Given the description of an element on the screen output the (x, y) to click on. 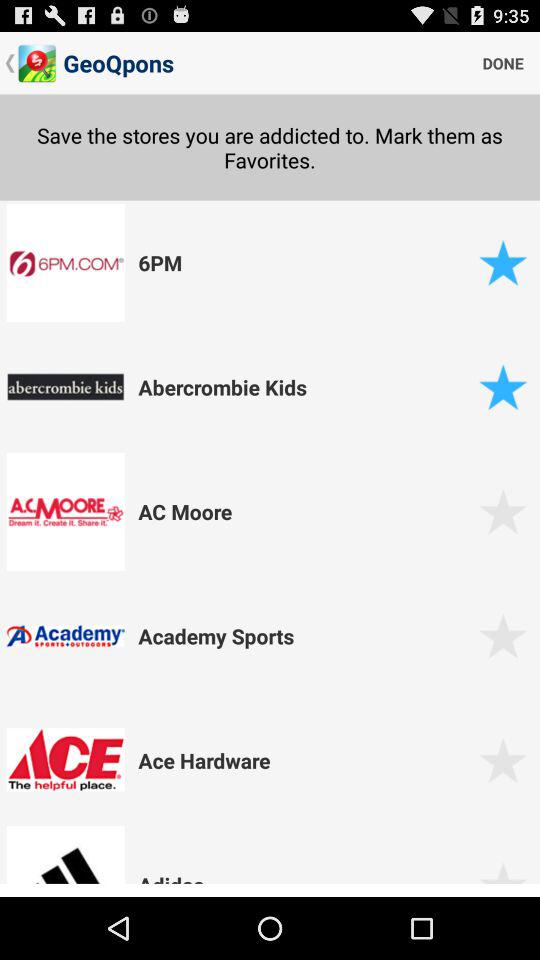
mark as favorite (502, 635)
